Given the description of an element on the screen output the (x, y) to click on. 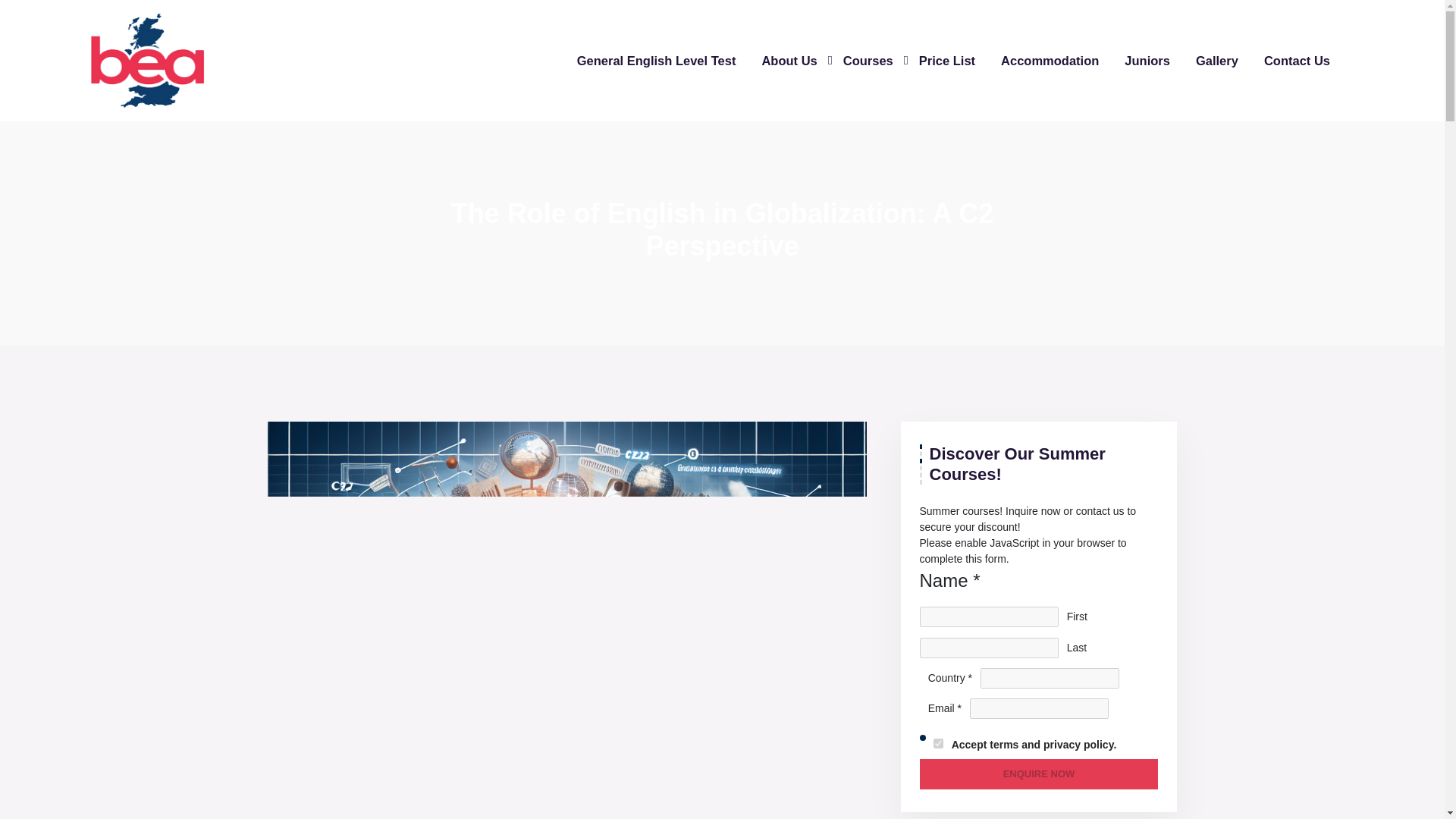
General English Level Test (658, 60)
Courses (870, 60)
Price List (948, 60)
Contact Us (1299, 60)
Accept terms and privacy policy. (937, 743)
About Us (791, 60)
Accommodation (1052, 60)
About Us (791, 60)
General English Level Test (658, 60)
Courses (870, 60)
